Given the description of an element on the screen output the (x, y) to click on. 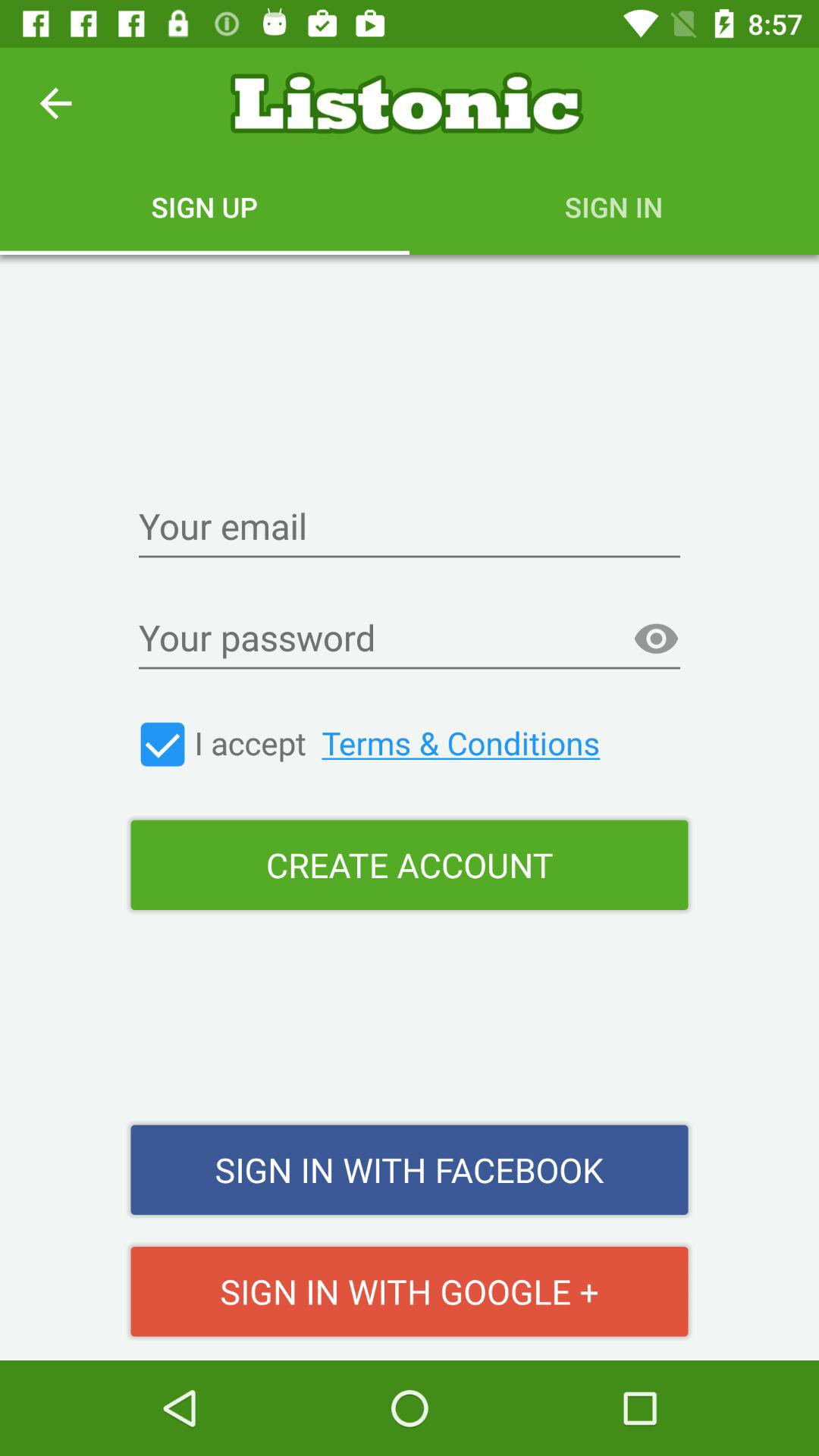
launch the item above create account item (656, 639)
